Given the description of an element on the screen output the (x, y) to click on. 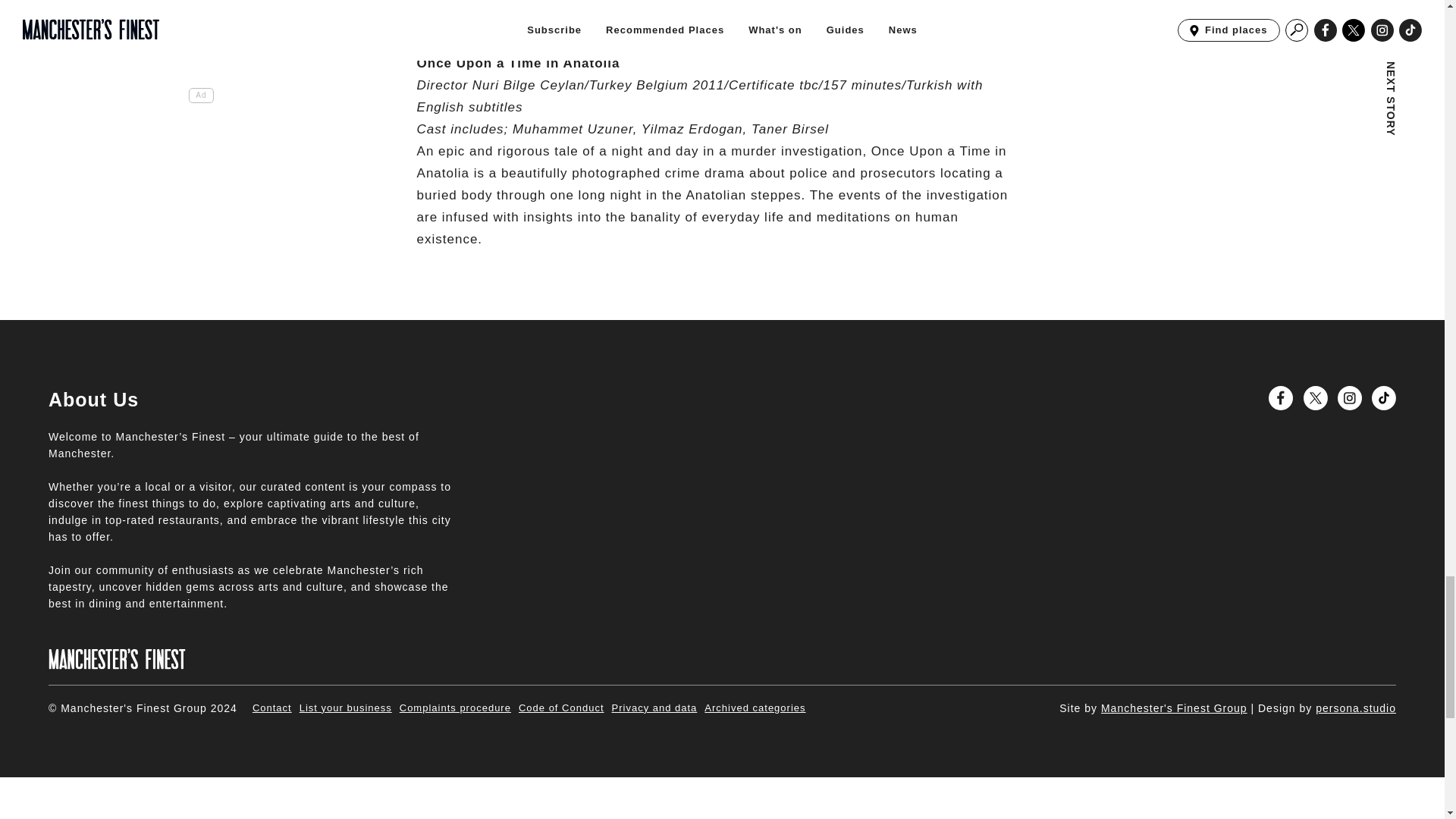
Go to Manchester's Finest X profile (1315, 397)
Once Upon a Time in Anatolia - Trailer (606, 10)
Go to Manchester's Finest TikTok profile (1383, 397)
Go to Manchester's Finest Instagram profile (1349, 397)
Go to Manchester's Finest Facebook page (1280, 397)
